Given the description of an element on the screen output the (x, y) to click on. 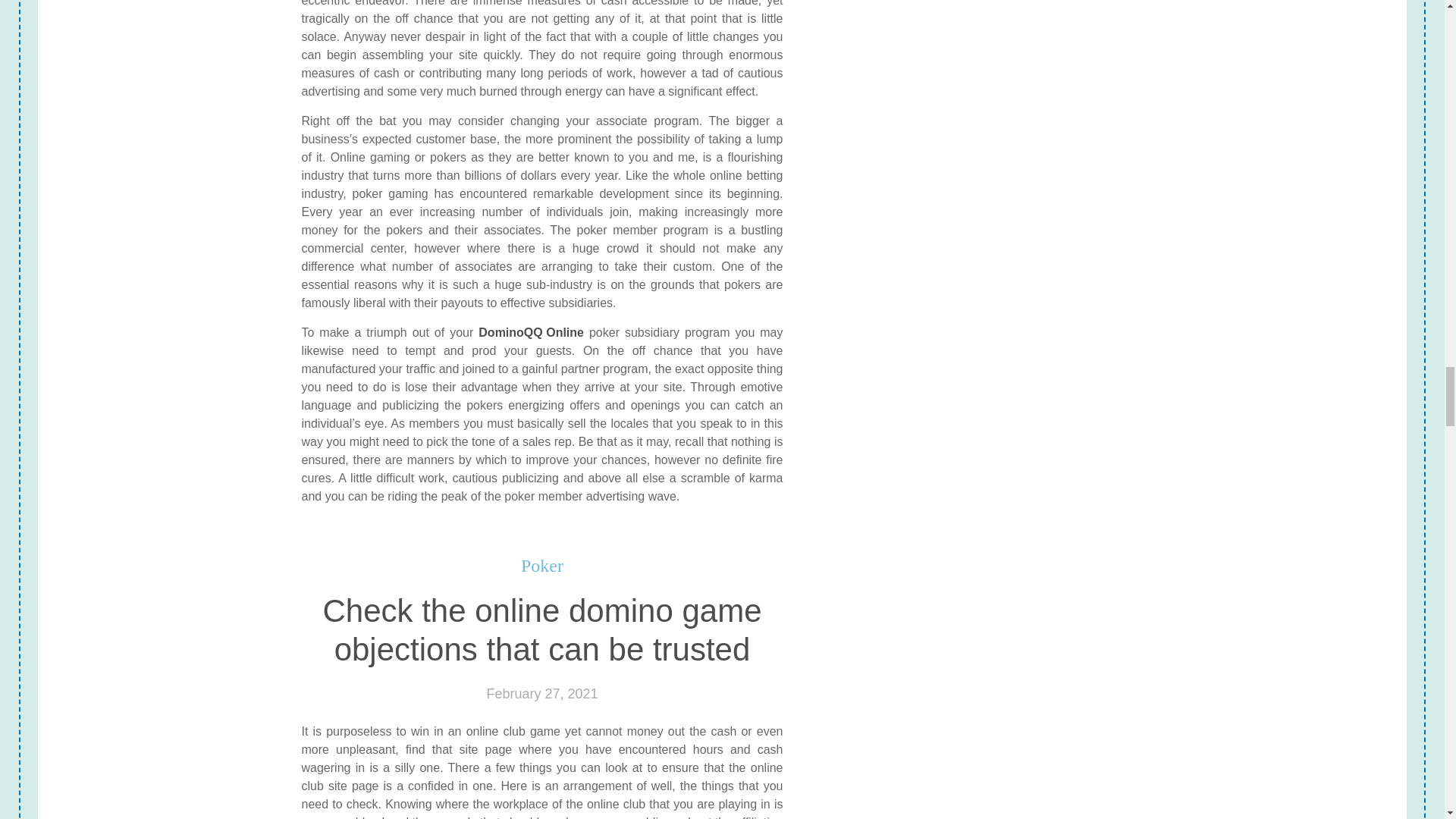
DominoQQ Online (531, 332)
February 27, 2021 (541, 693)
Poker (542, 566)
Check the online domino game objections that can be trusted (542, 630)
